Given the description of an element on the screen output the (x, y) to click on. 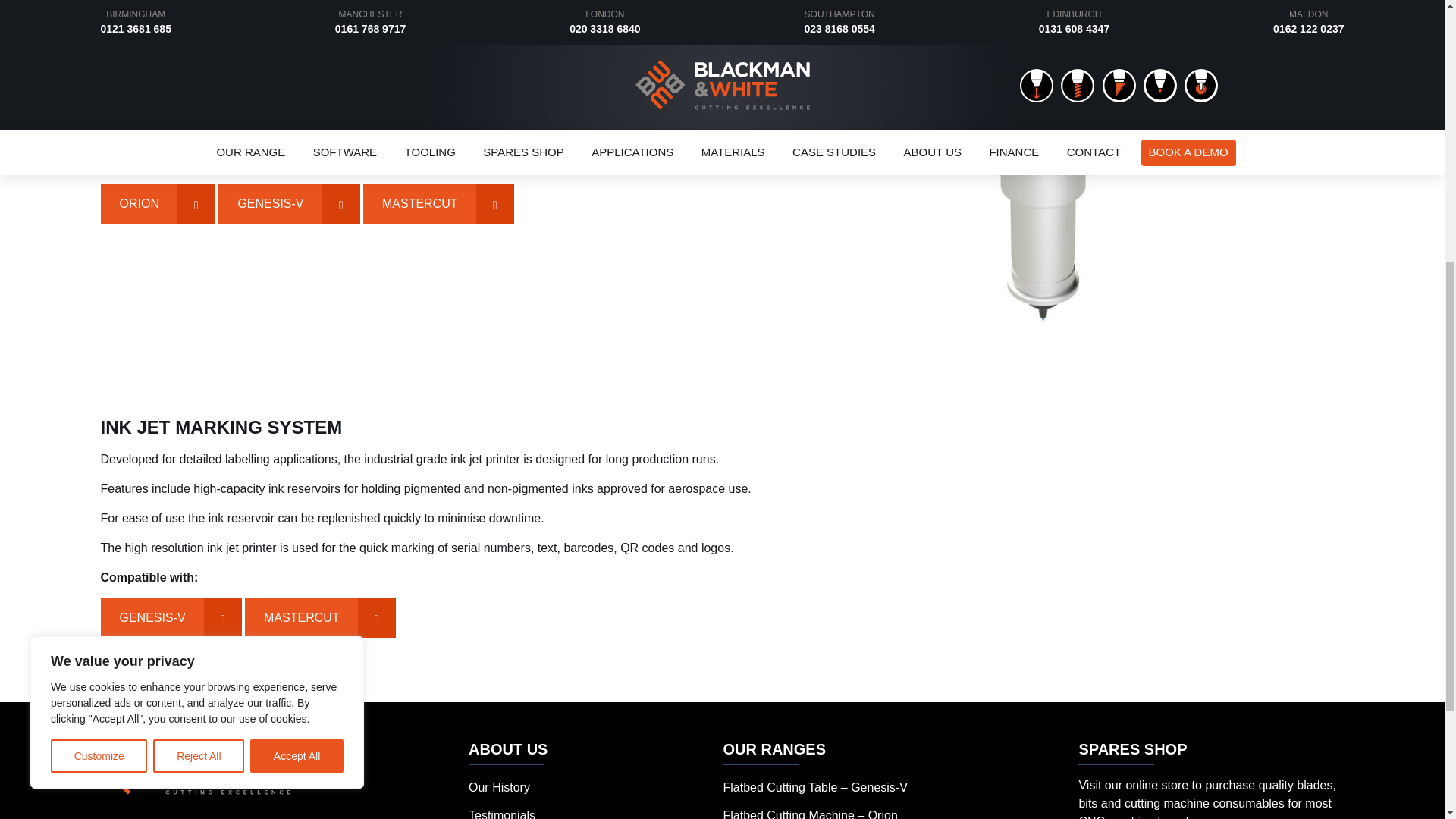
Mastercut (320, 618)
Reject All (198, 299)
Customize (98, 299)
Home (194, 767)
Mastercut (437, 203)
Orion (157, 203)
Genesis-V (288, 203)
Accept All (296, 299)
Genesis-V (170, 618)
